Given the description of an element on the screen output the (x, y) to click on. 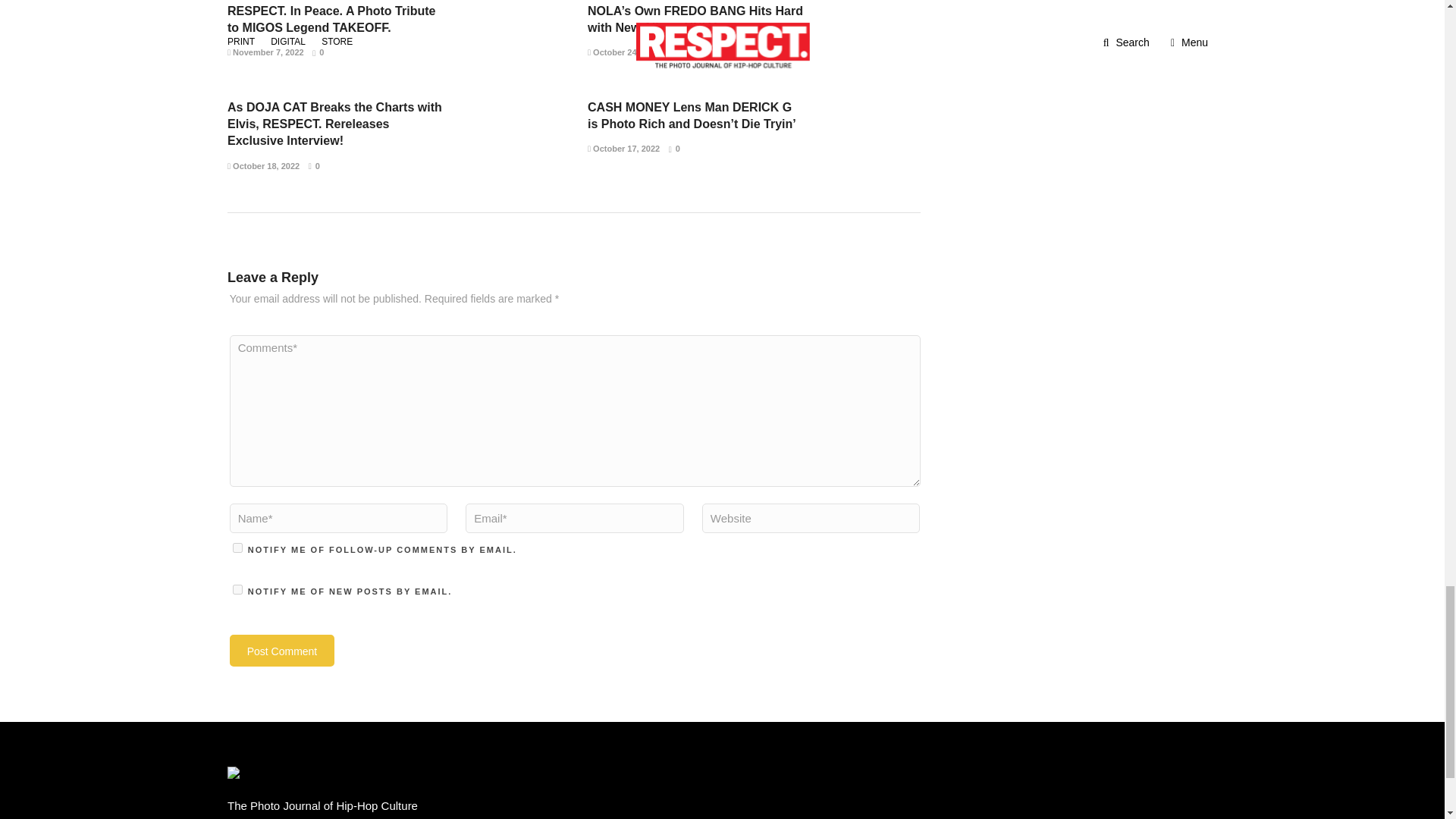
subscribe (237, 589)
subscribe (237, 547)
RESPECT. In Peace. A Photo Tribute to MIGOS Legend TAKEOFF. (331, 19)
Post Comment (282, 650)
